Given the description of an element on the screen output the (x, y) to click on. 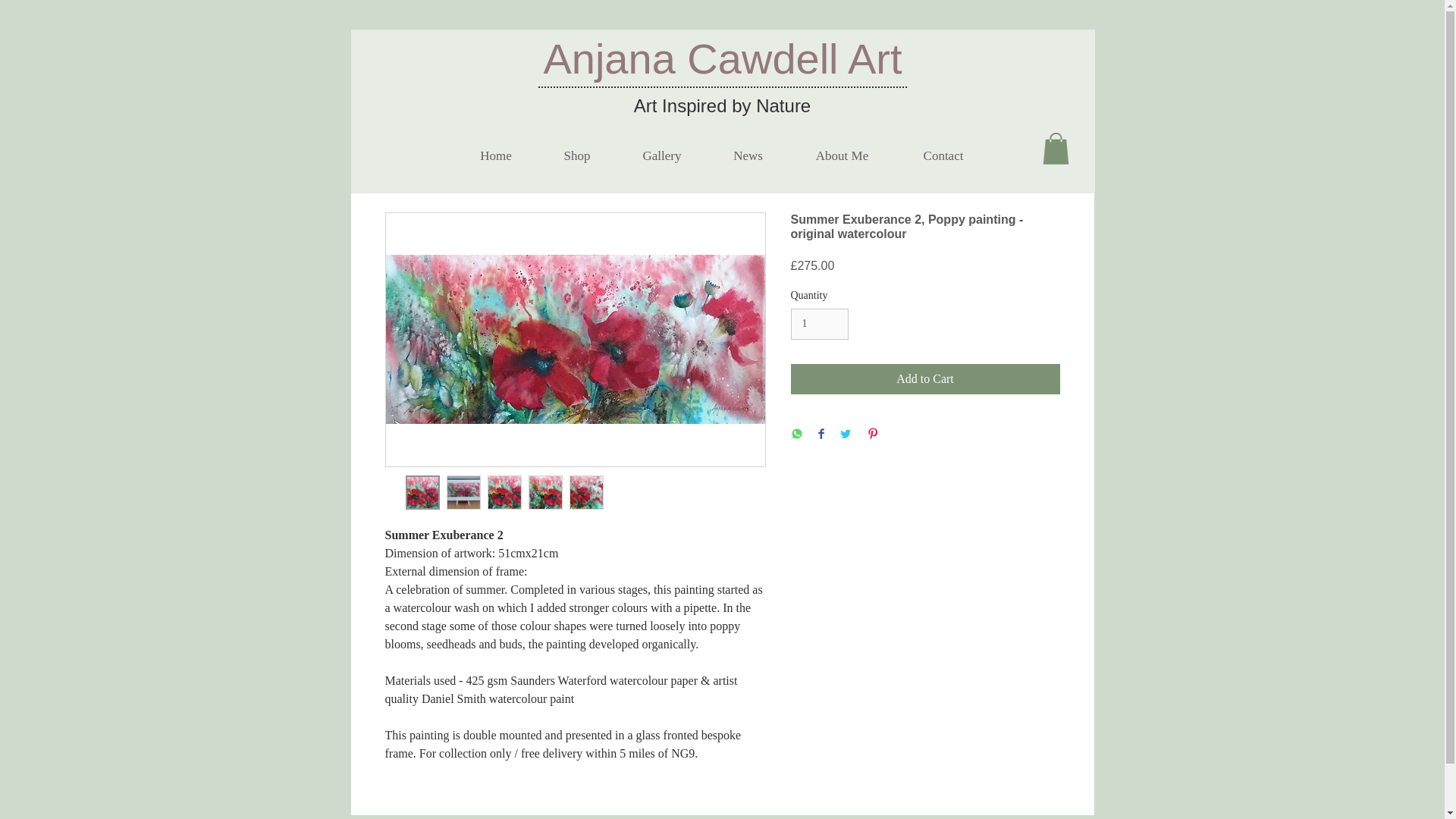
Anjana Cawdell Art (722, 58)
News (748, 156)
About Me (842, 156)
Shop (576, 156)
Gallery (661, 156)
1 (818, 323)
Add to Cart (924, 378)
Home (494, 156)
Art Inspired by Nature (721, 105)
Contact (943, 156)
